Given the description of an element on the screen output the (x, y) to click on. 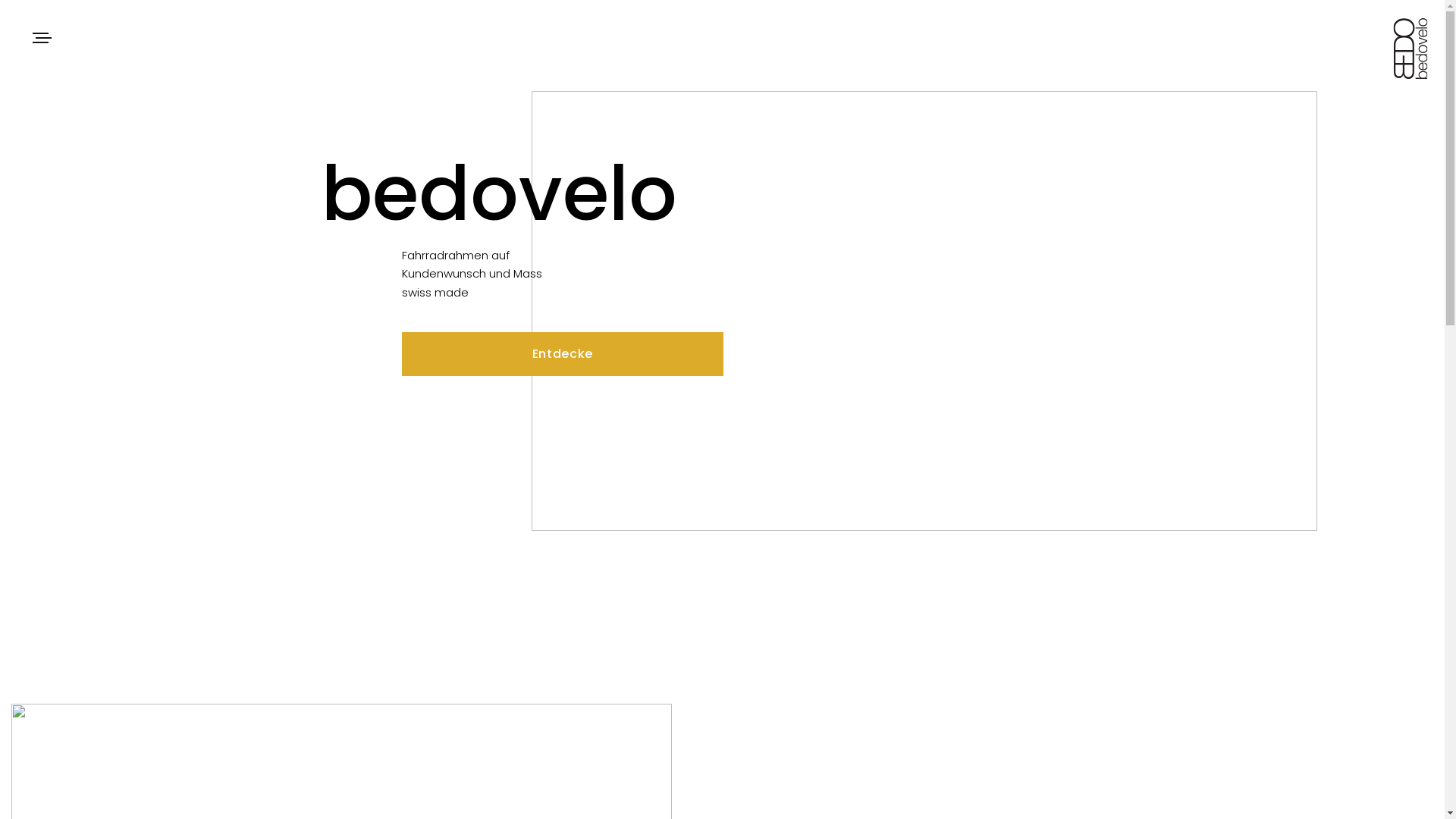
Entdecke Element type: text (562, 354)
